Given the description of an element on the screen output the (x, y) to click on. 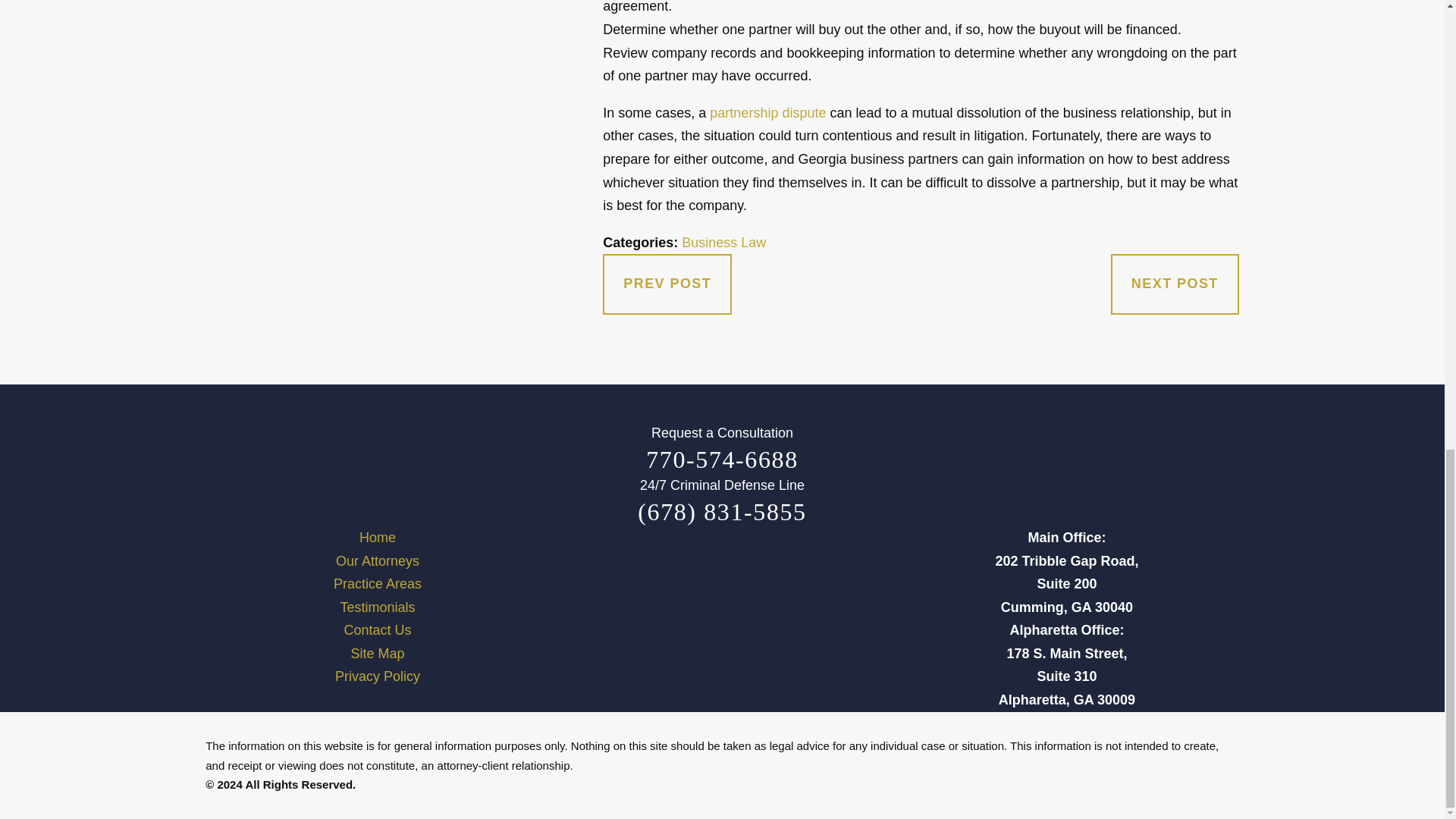
LinkedIn (812, 621)
Facebook (633, 621)
